Given the description of an element on the screen output the (x, y) to click on. 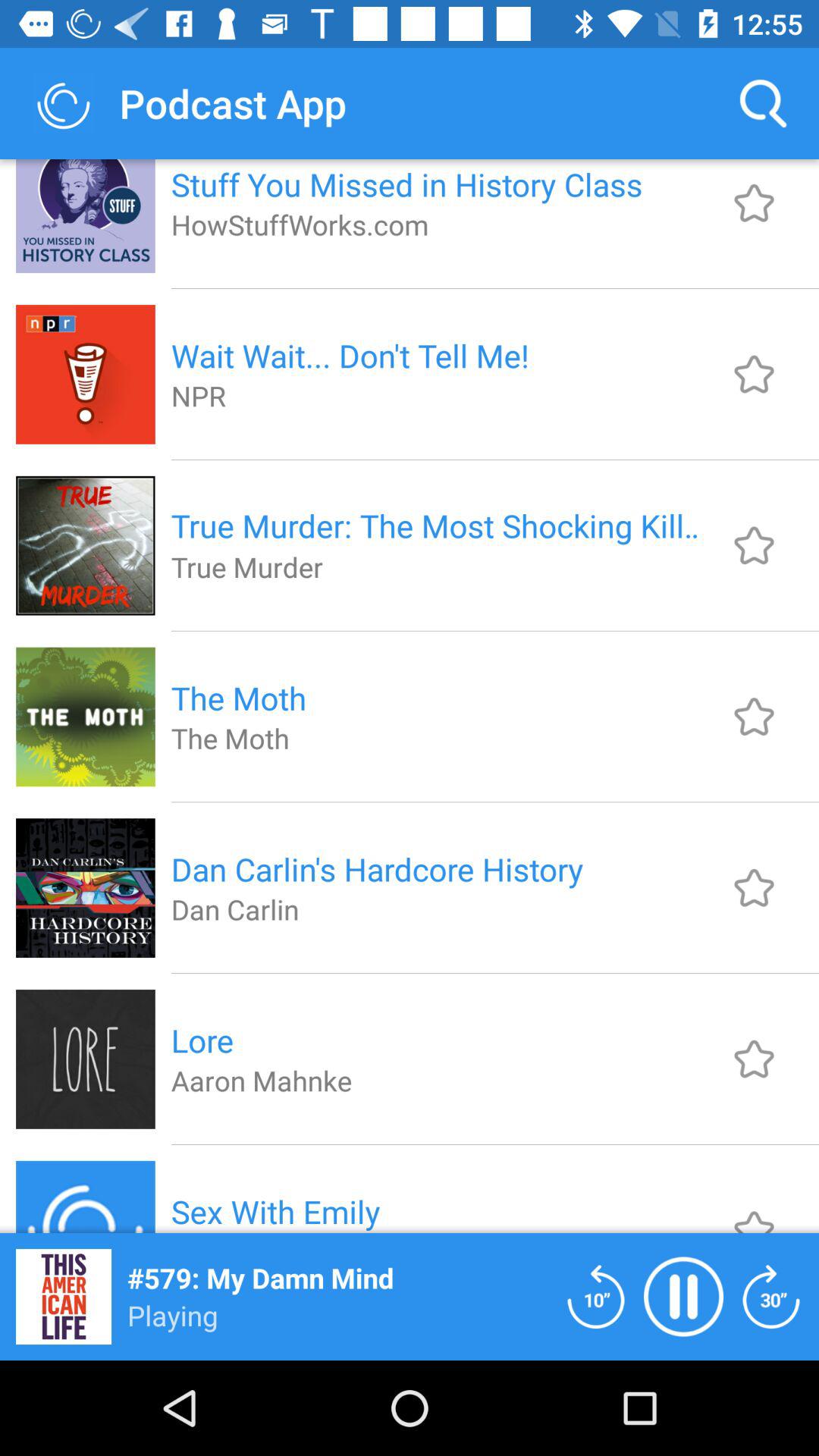
rewind for 10 seconds (595, 1296)
